Given the description of an element on the screen output the (x, y) to click on. 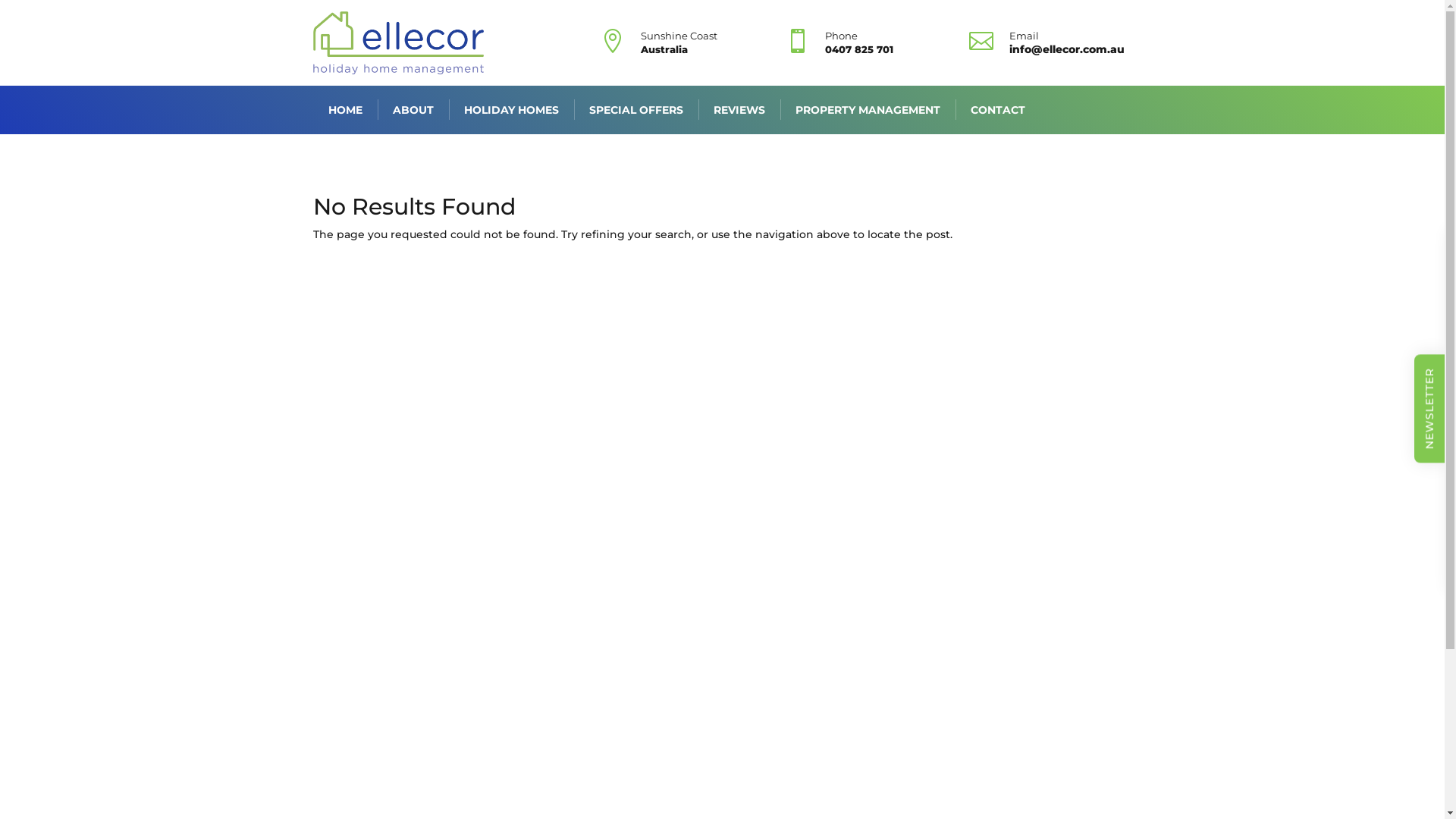
ABOUT Element type: text (412, 109)
HOLIDAY HOMES Element type: text (511, 109)
PROPERTY MANAGEMENT Element type: text (866, 109)
SPECIAL OFFERS Element type: text (635, 109)
HOME Element type: text (344, 109)
CONTACT Element type: text (997, 109)
REVIEWS Element type: text (738, 109)
ellecor website logo Element type: hover (397, 42)
